Given the description of an element on the screen output the (x, y) to click on. 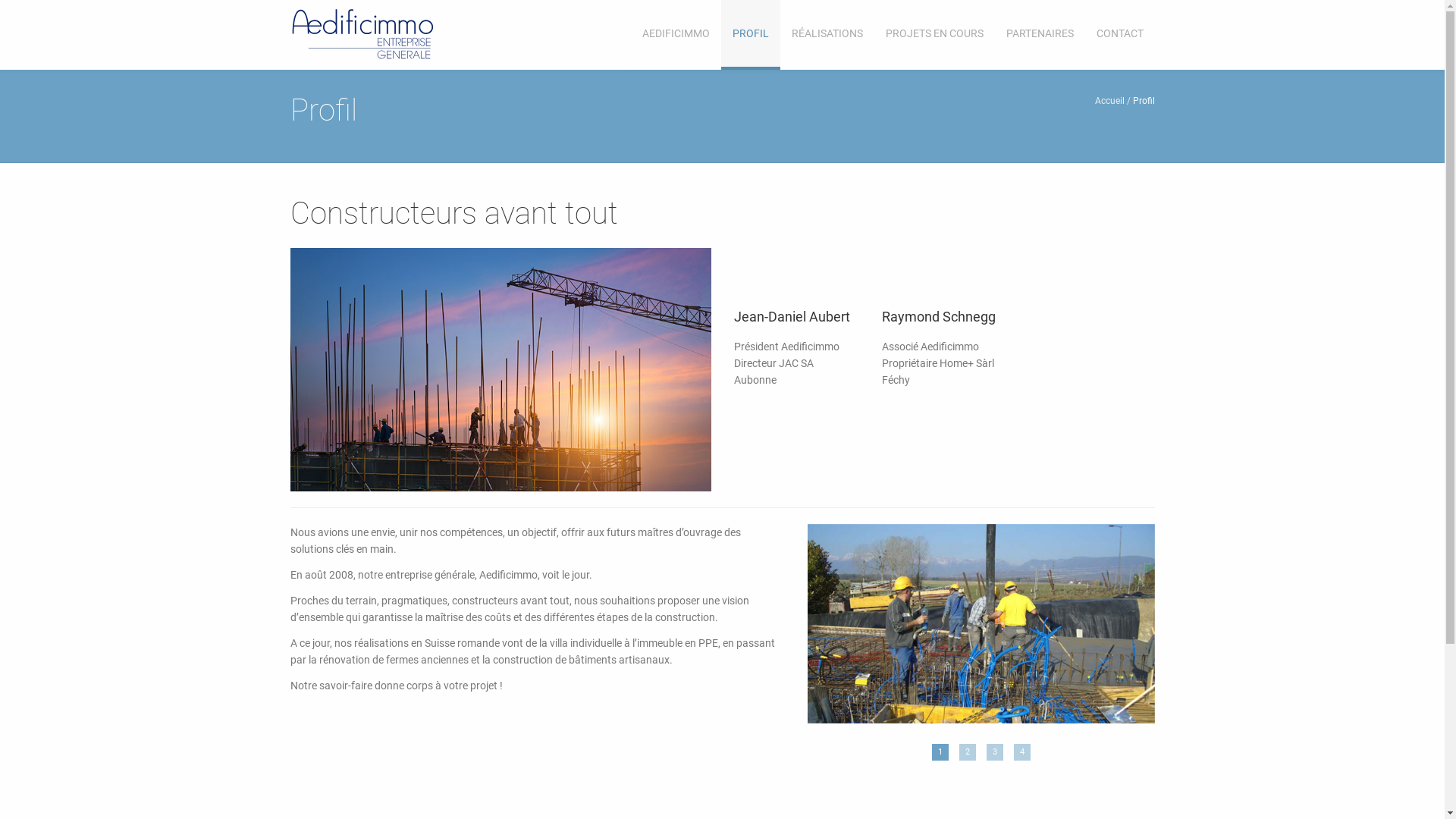
PARTENAIRES Element type: text (1039, 34)
AEDIFICIMMO Element type: text (675, 34)
CONTACT Element type: text (1119, 34)
PROJETS EN COURS Element type: text (933, 34)
Accueil Element type: text (1112, 100)
PROFIL Element type: text (749, 34)
